Given the description of an element on the screen output the (x, y) to click on. 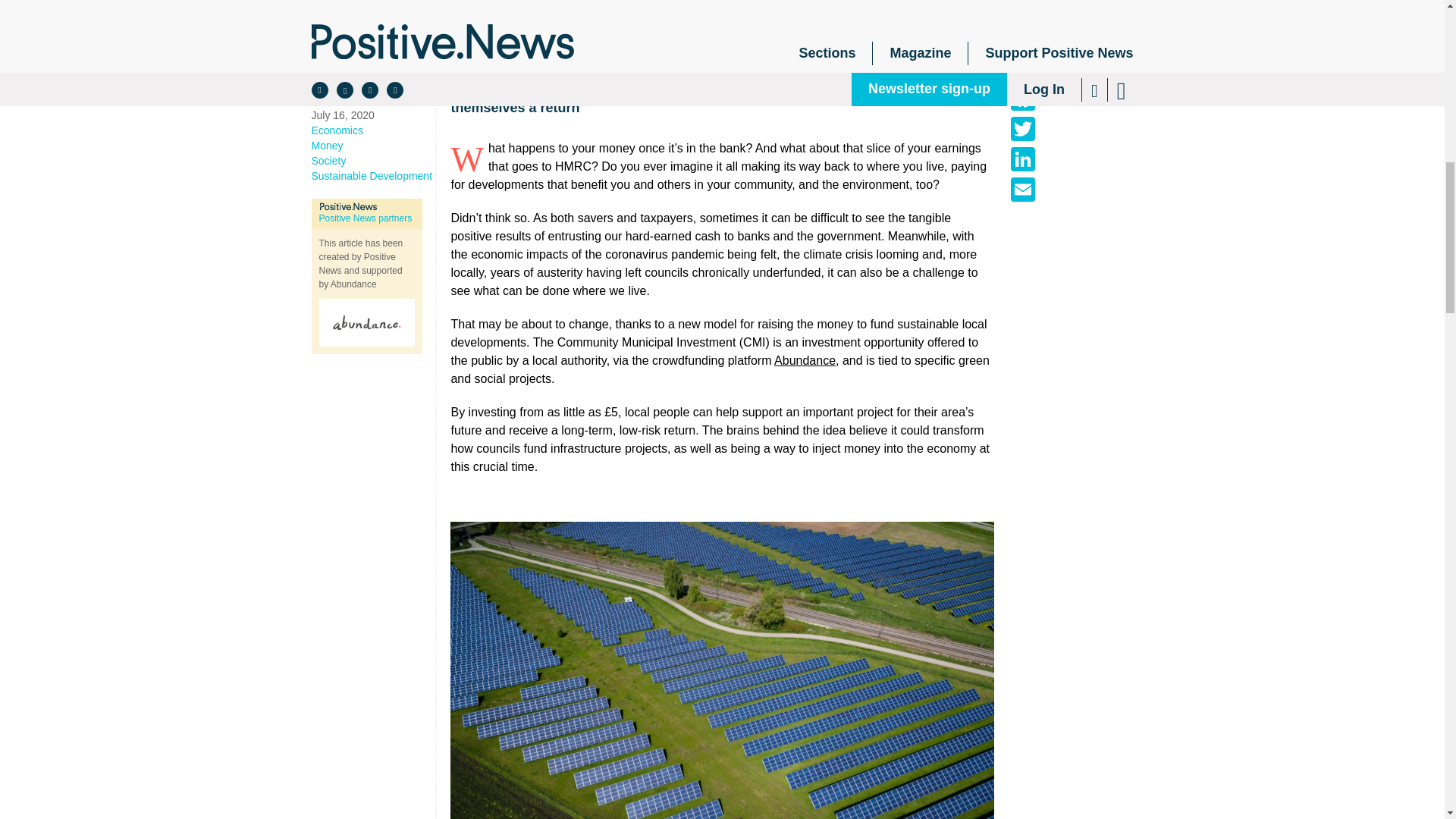
Economics (372, 130)
Money (372, 145)
Positive News partners (365, 218)
Facebook (1022, 98)
Nicola Slawson (372, 84)
Society (372, 160)
Twitter (1022, 128)
Abundance (804, 359)
Email (1022, 189)
LinkedIn (1022, 159)
Sustainable Development (372, 175)
